Given the description of an element on the screen output the (x, y) to click on. 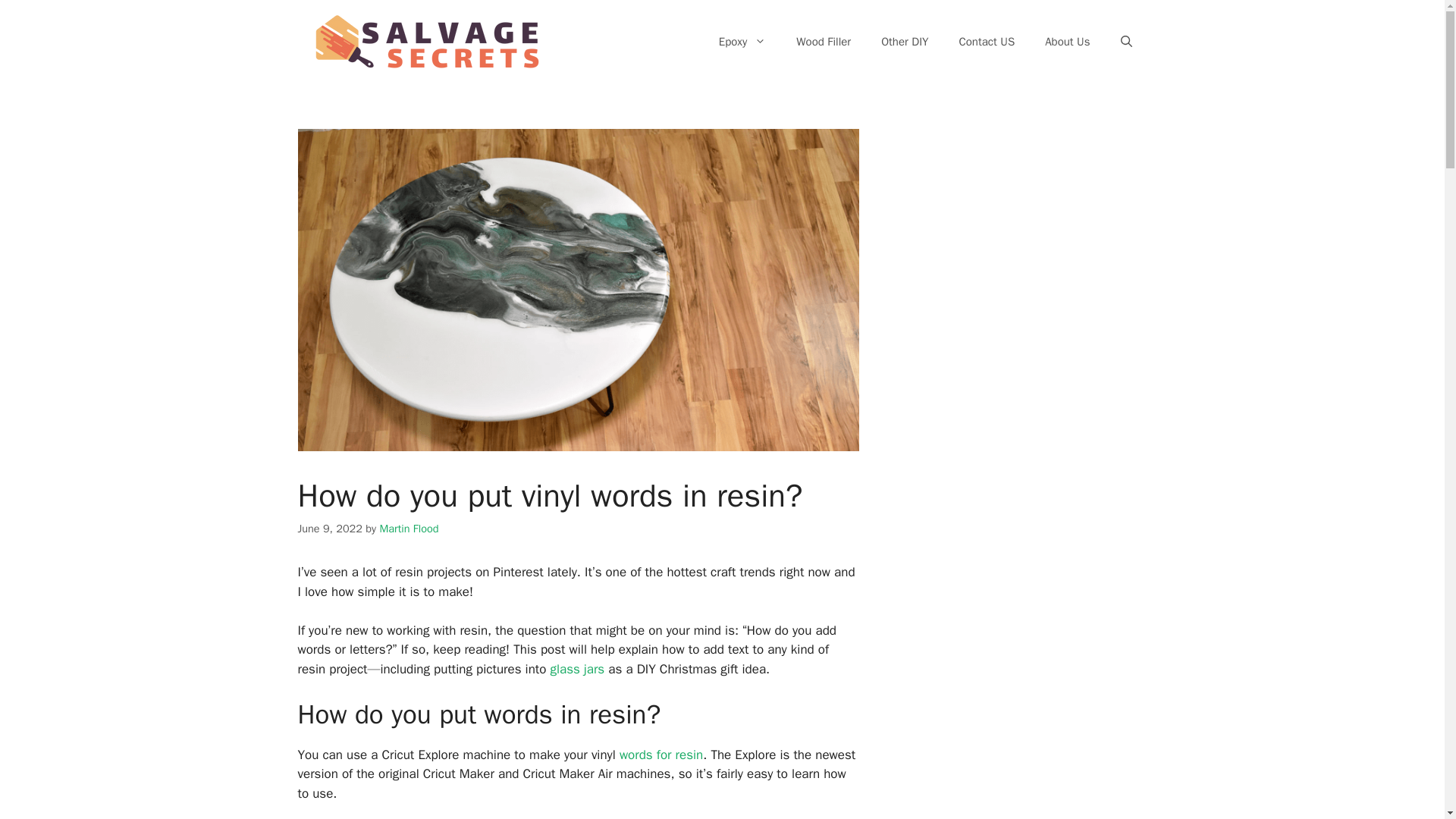
View all posts by Martin Flood (408, 528)
About Us (1067, 41)
Epoxy (741, 41)
